Given the description of an element on the screen output the (x, y) to click on. 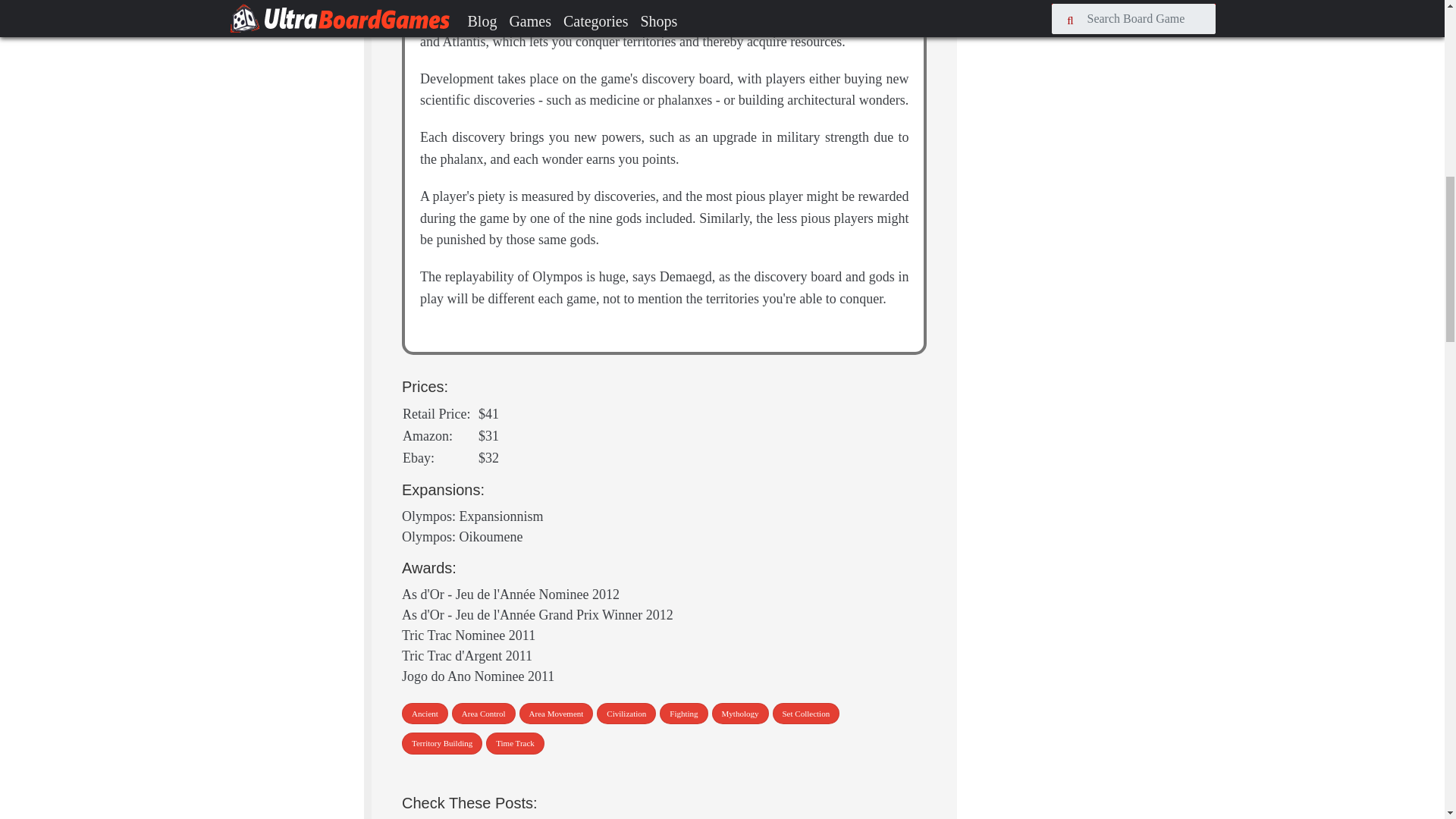
Mythology (739, 713)
Area Control (483, 713)
Ancient (424, 713)
Fighting (683, 713)
Territory Building (441, 743)
Time Track (515, 743)
Set Collection (805, 713)
Civilization (626, 713)
Area Movement (556, 713)
